Given the description of an element on the screen output the (x, y) to click on. 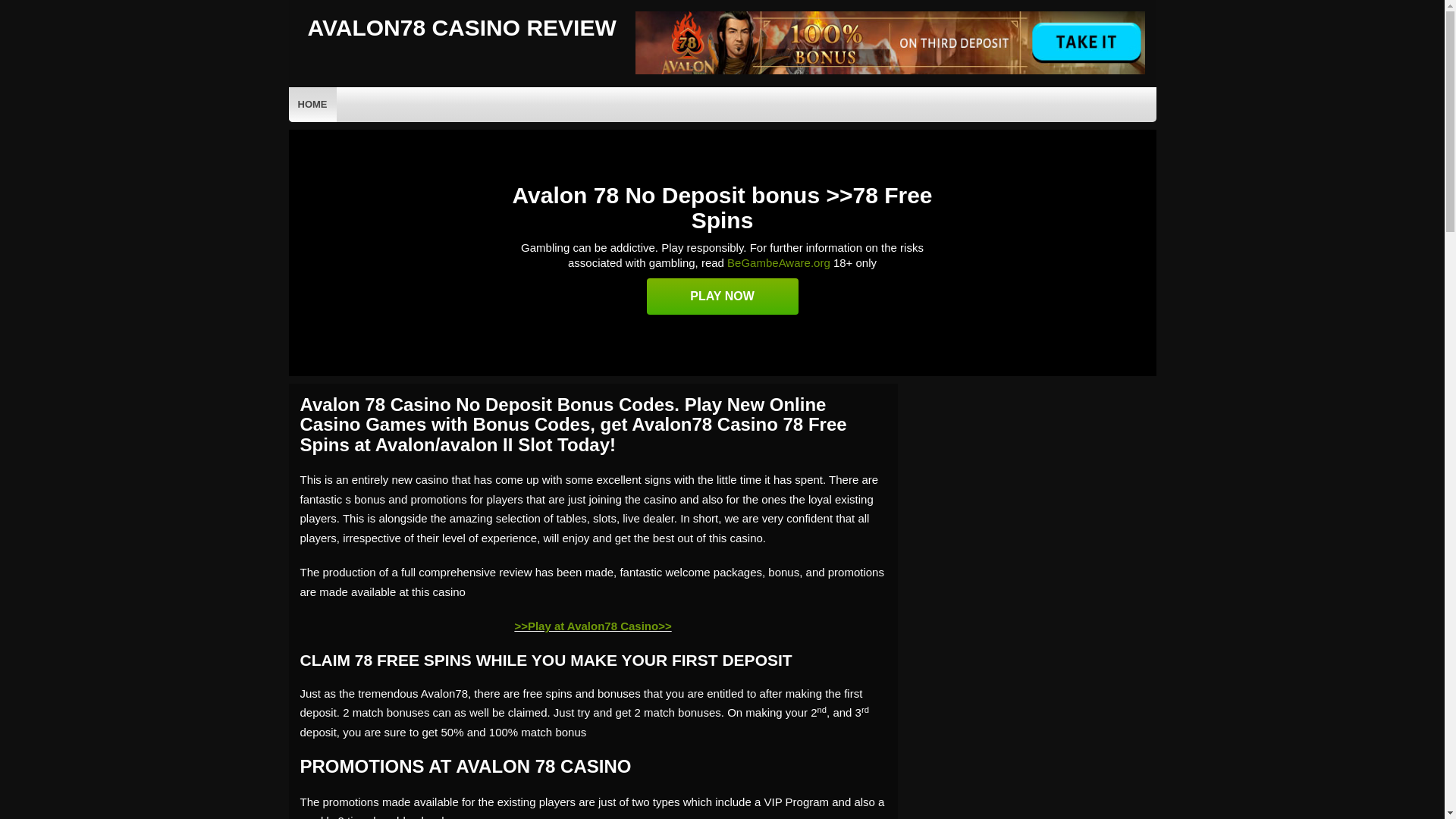
HOME (312, 104)
BeGambeAware.org (777, 262)
AVALON78 CASINO REVIEW (461, 27)
PLAY NOW (721, 296)
Avalon 78 Casino (889, 71)
